Given the description of an element on the screen output the (x, y) to click on. 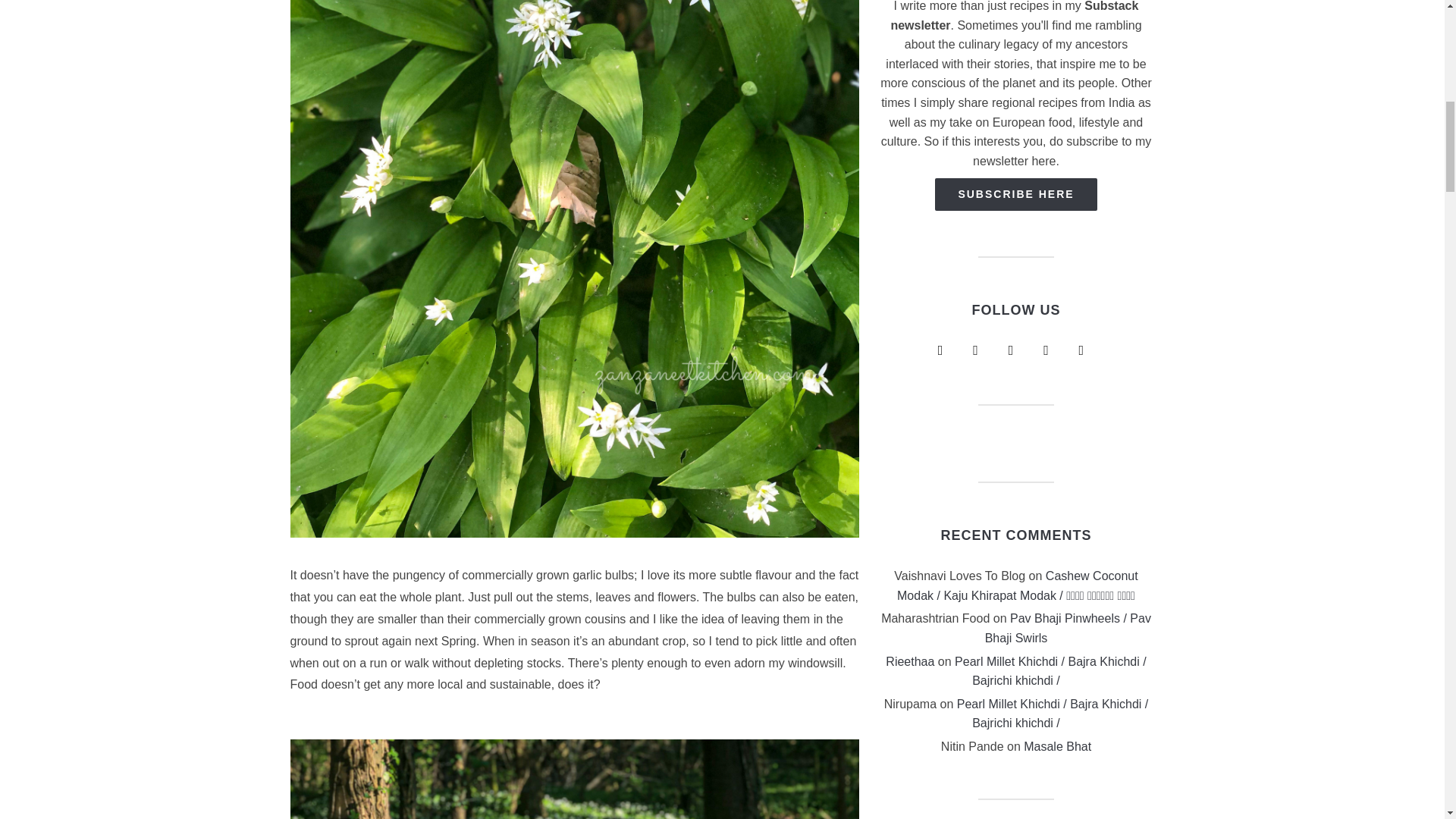
Twitter (1010, 349)
Instagram (940, 349)
Facebook (975, 349)
